Given the description of an element on the screen output the (x, y) to click on. 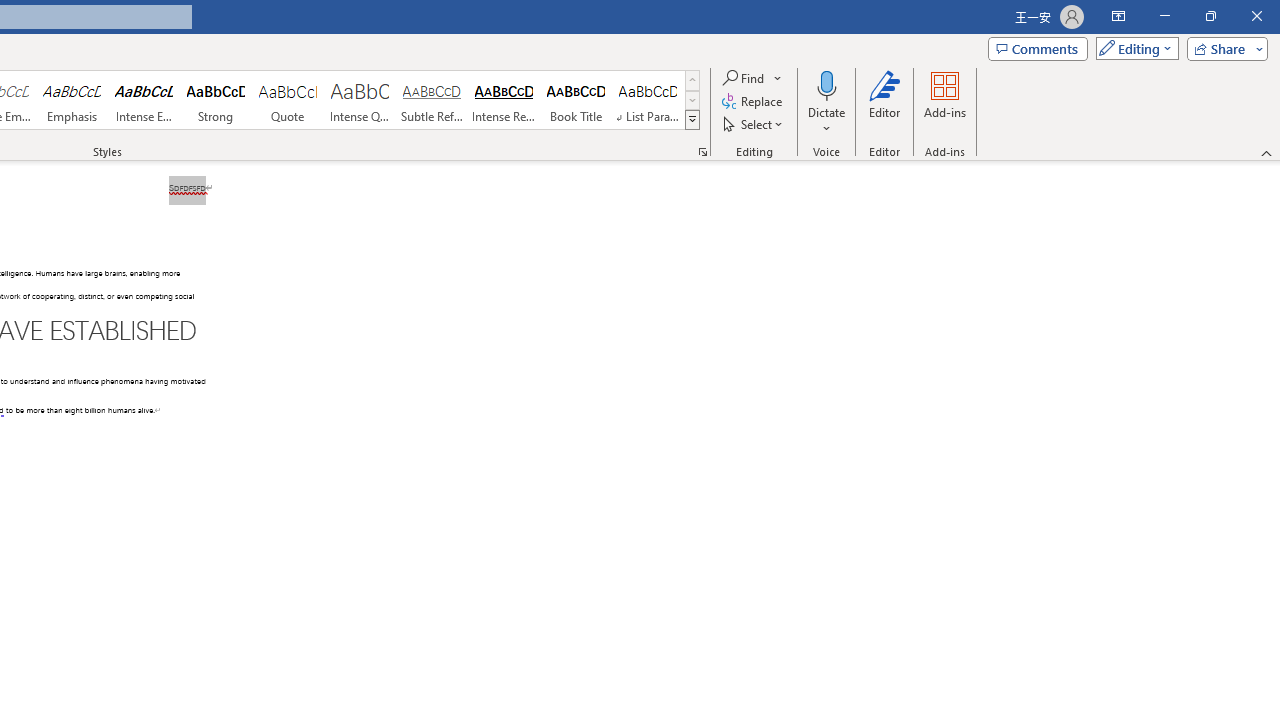
Dictate (826, 84)
Restore Down (1210, 16)
Share (1223, 48)
Row up (692, 79)
Styles... (702, 151)
Dictate (826, 102)
Close (1256, 16)
Minimize (1164, 16)
Collapse the Ribbon (1267, 152)
Intense Quote (359, 100)
Replace... (753, 101)
Intense Emphasis (143, 100)
More Options (826, 121)
